Given the description of an element on the screen output the (x, y) to click on. 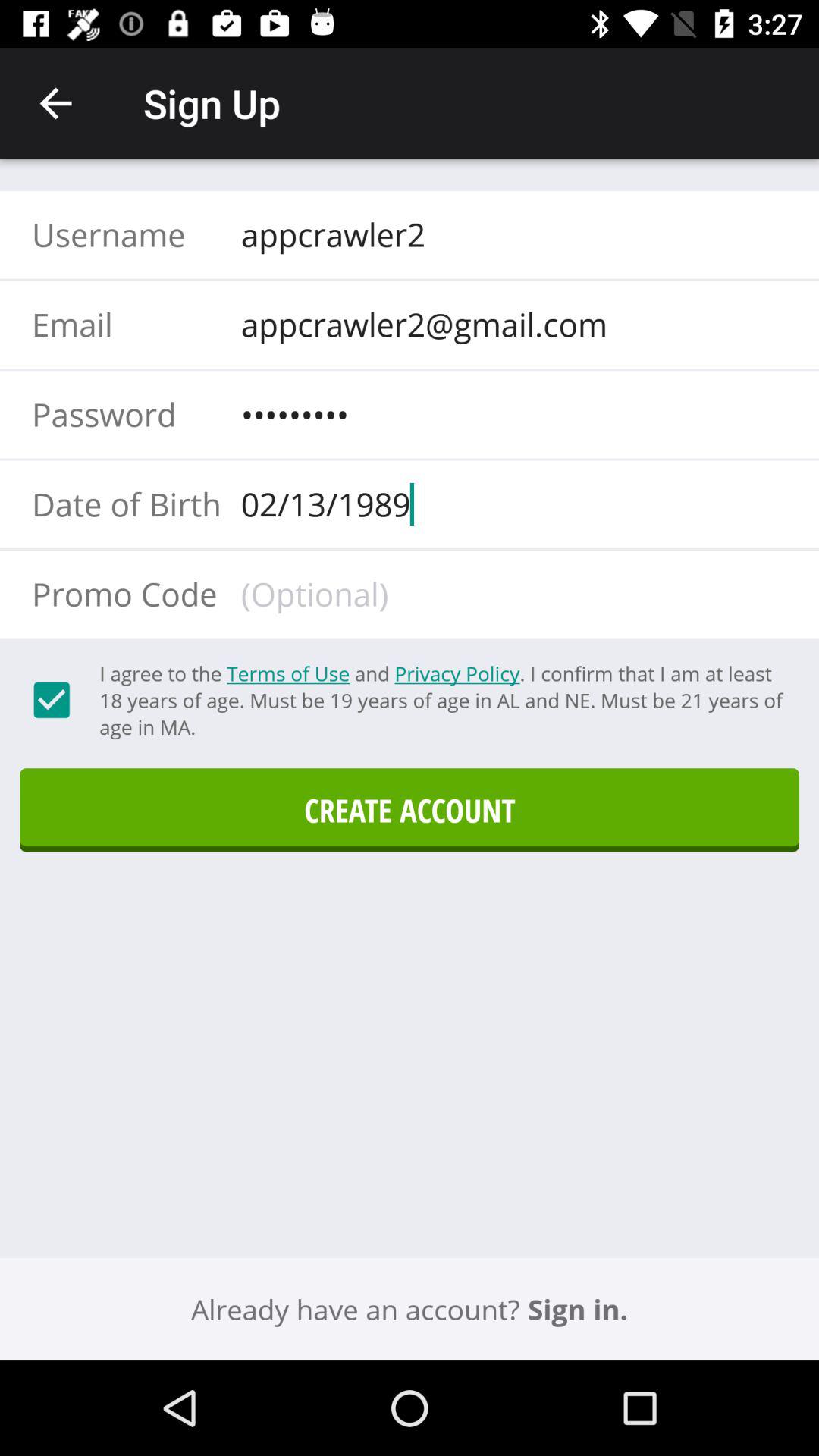
turn on the item next to the promo code (508, 593)
